Given the description of an element on the screen output the (x, y) to click on. 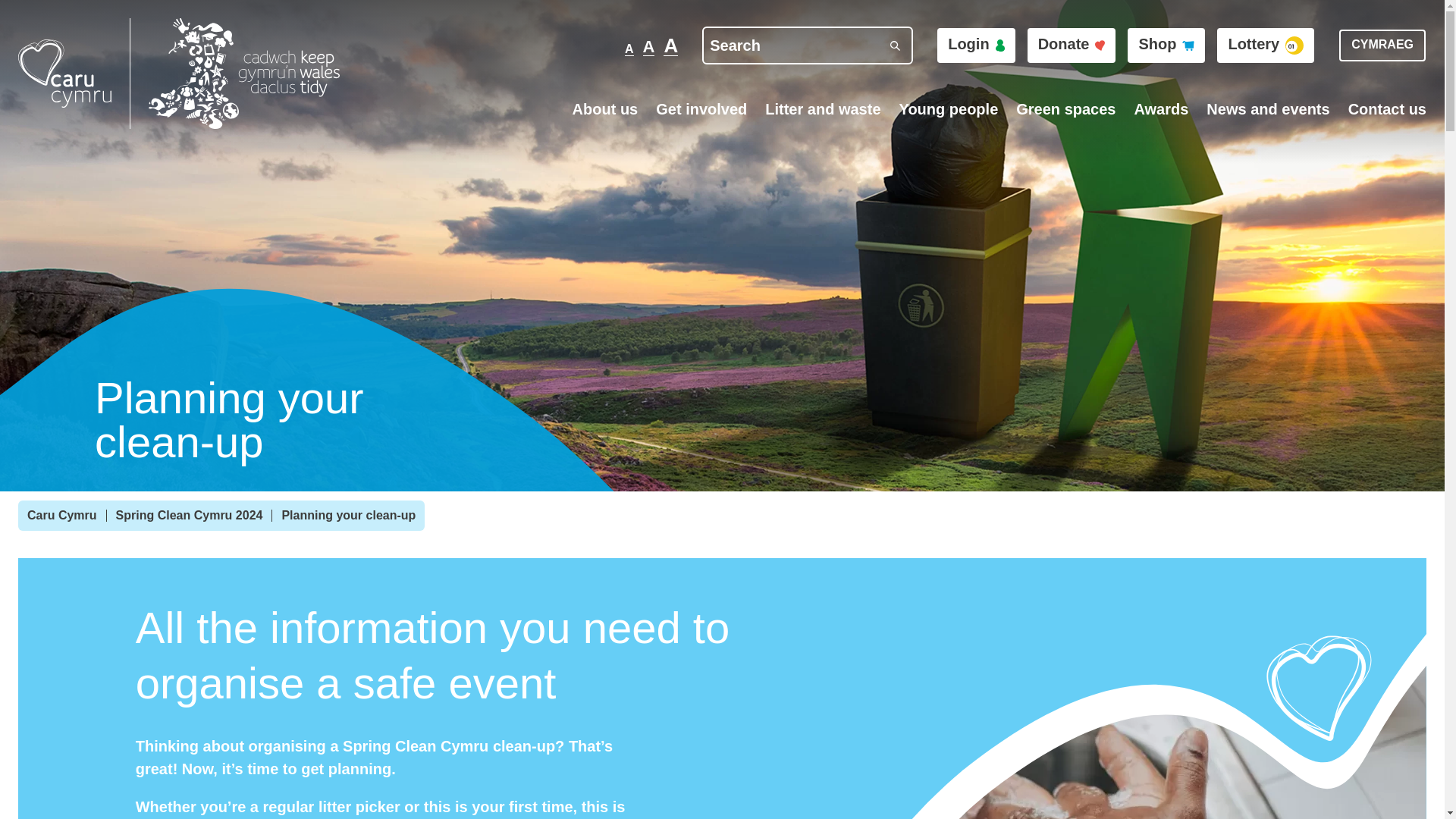
Donate (1071, 45)
Litter and waste (822, 108)
Login (975, 45)
Type search term here (806, 45)
CYMRAEG (1382, 45)
Lottery (1265, 45)
Get involved (701, 108)
Shop (1165, 45)
Young people (948, 108)
About us (605, 108)
